Given the description of an element on the screen output the (x, y) to click on. 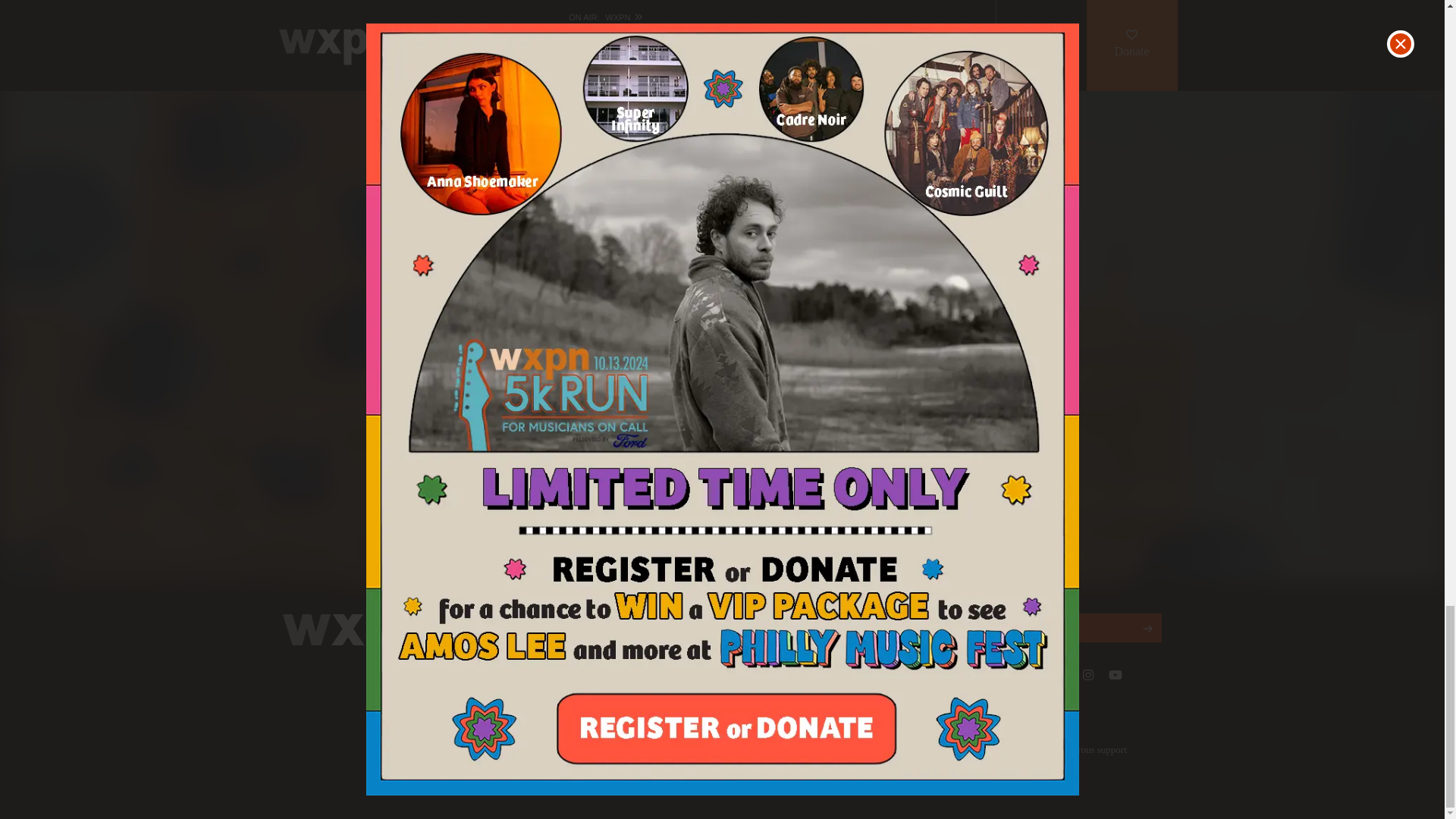
RECORDINGS (606, 265)
Claire Brown (509, 411)
Claire Brown (509, 16)
RECORDINGS (606, 66)
Maeve Zeleniak (514, 214)
